Given the description of an element on the screen output the (x, y) to click on. 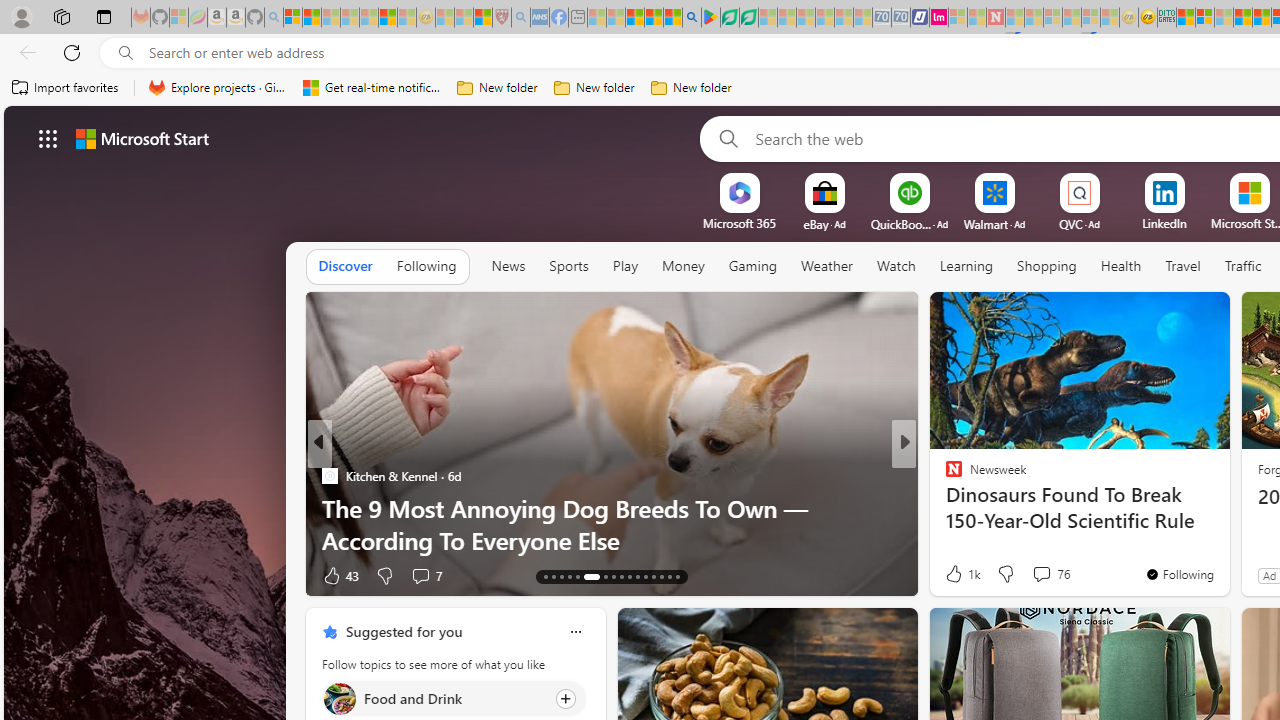
App launcher (47, 138)
Body Network (944, 475)
Microsoft Word - consumer-privacy address update 2.2021 (748, 17)
AutomationID: tab-24 (645, 576)
Life with Coco (944, 507)
XDA Developers (944, 475)
